Given the description of an element on the screen output the (x, y) to click on. 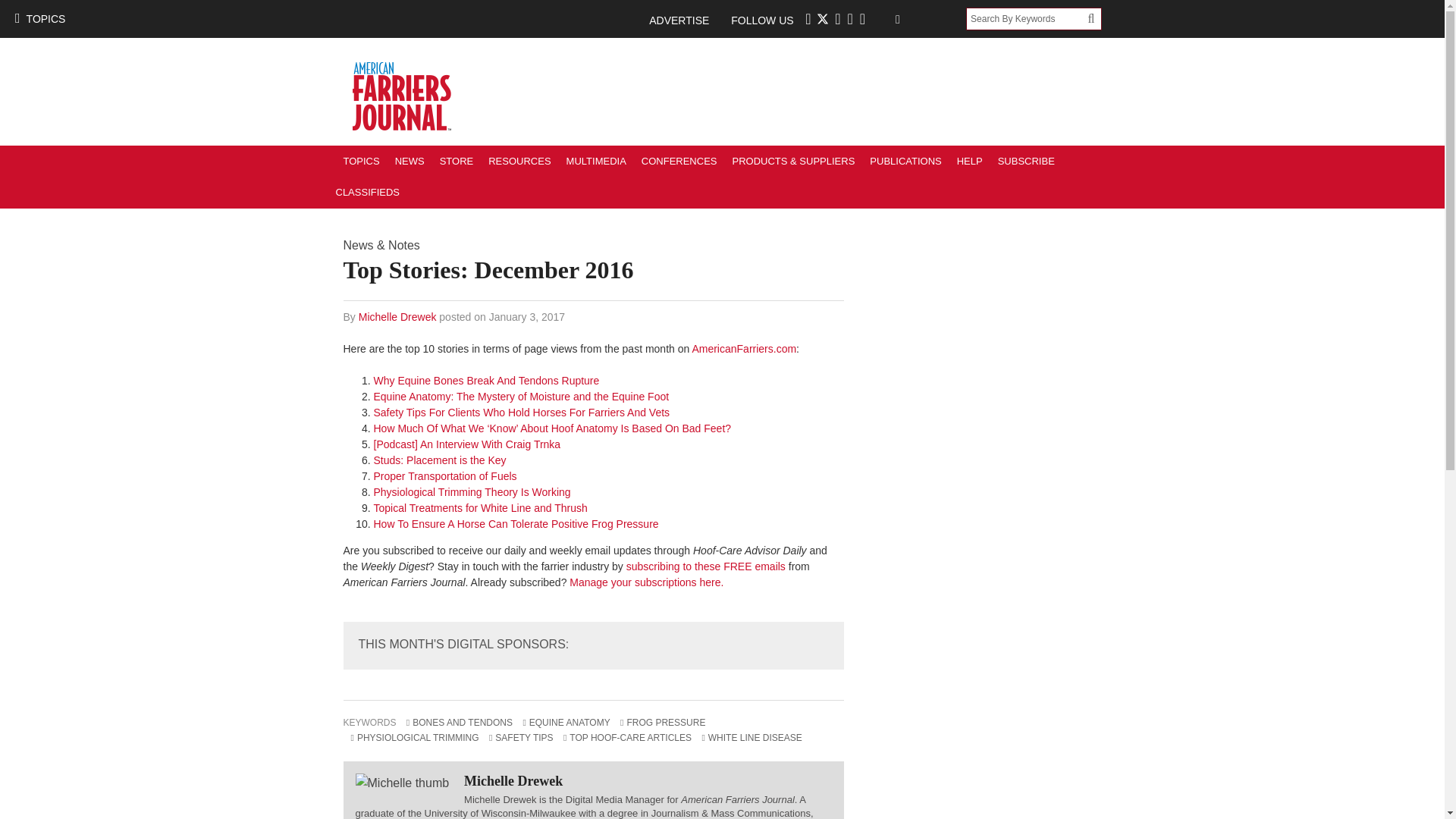
ADVERTISE (686, 20)
TOPICS (39, 18)
TOPICS (360, 160)
Search By Keywords (1026, 18)
Search By Keywords (1026, 18)
